Given the description of an element on the screen output the (x, y) to click on. 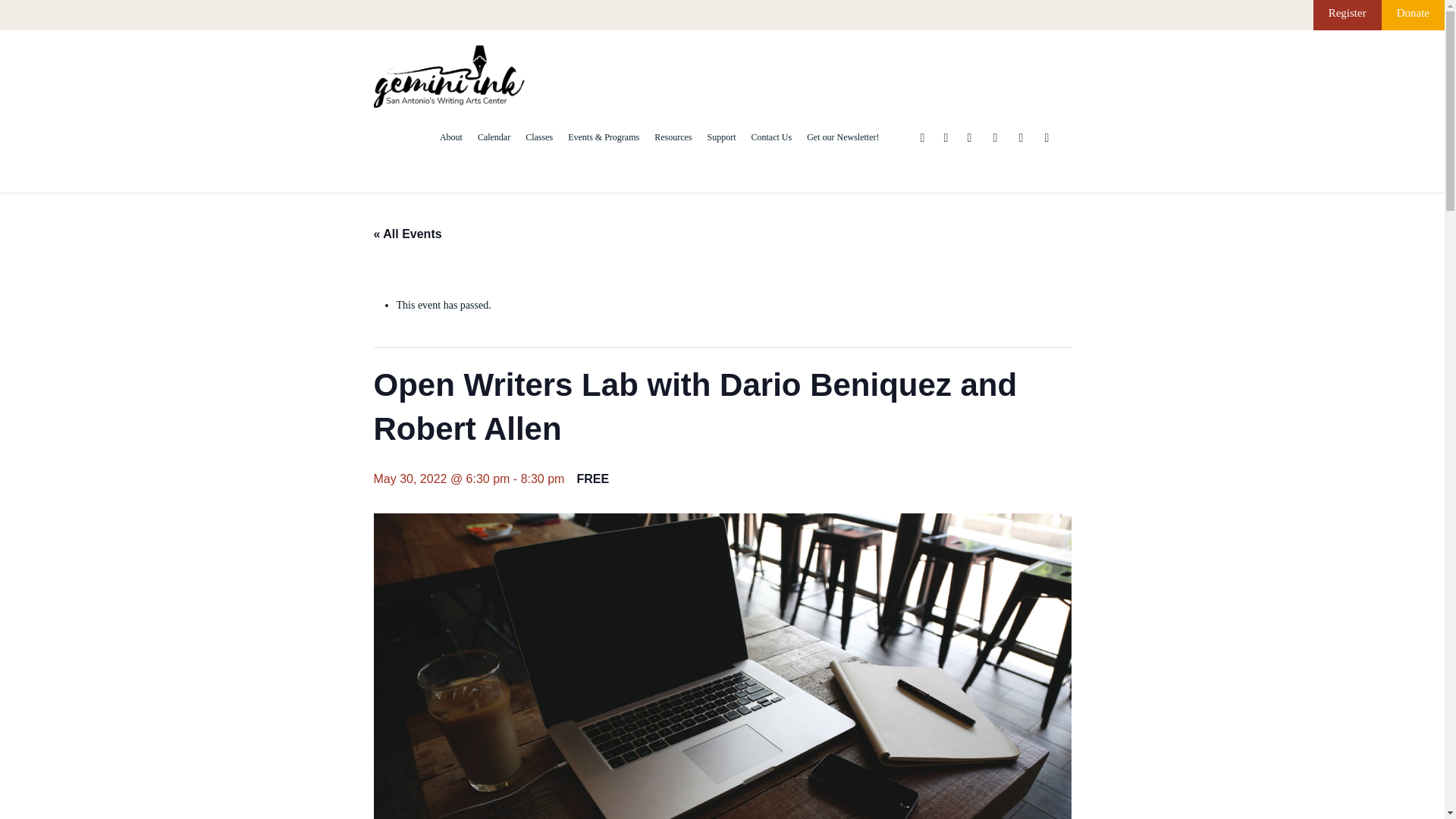
Search (570, 449)
Friday (548, 510)
Sunday (388, 510)
Saturday (580, 510)
Tuesday (453, 510)
Thursday (516, 510)
Search for: (483, 453)
Monday (422, 510)
Wednesday (484, 510)
Search (570, 449)
